Given the description of an element on the screen output the (x, y) to click on. 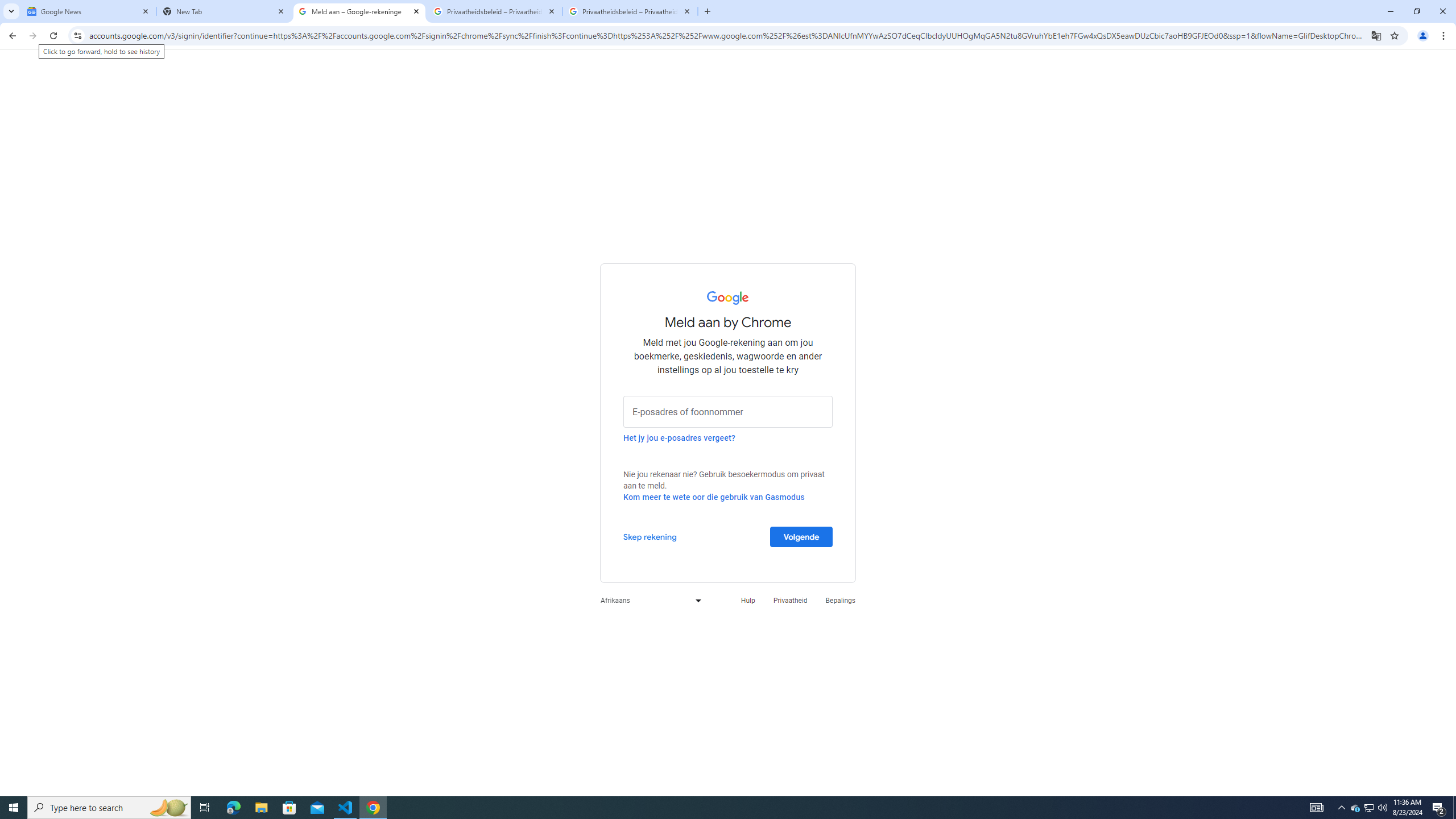
Hulp (747, 600)
Privaatheid (790, 600)
Translate this page (1376, 35)
Kom meer te wete oor die gebruik van Gasmodus (713, 497)
Google News (88, 11)
